Given the description of an element on the screen output the (x, y) to click on. 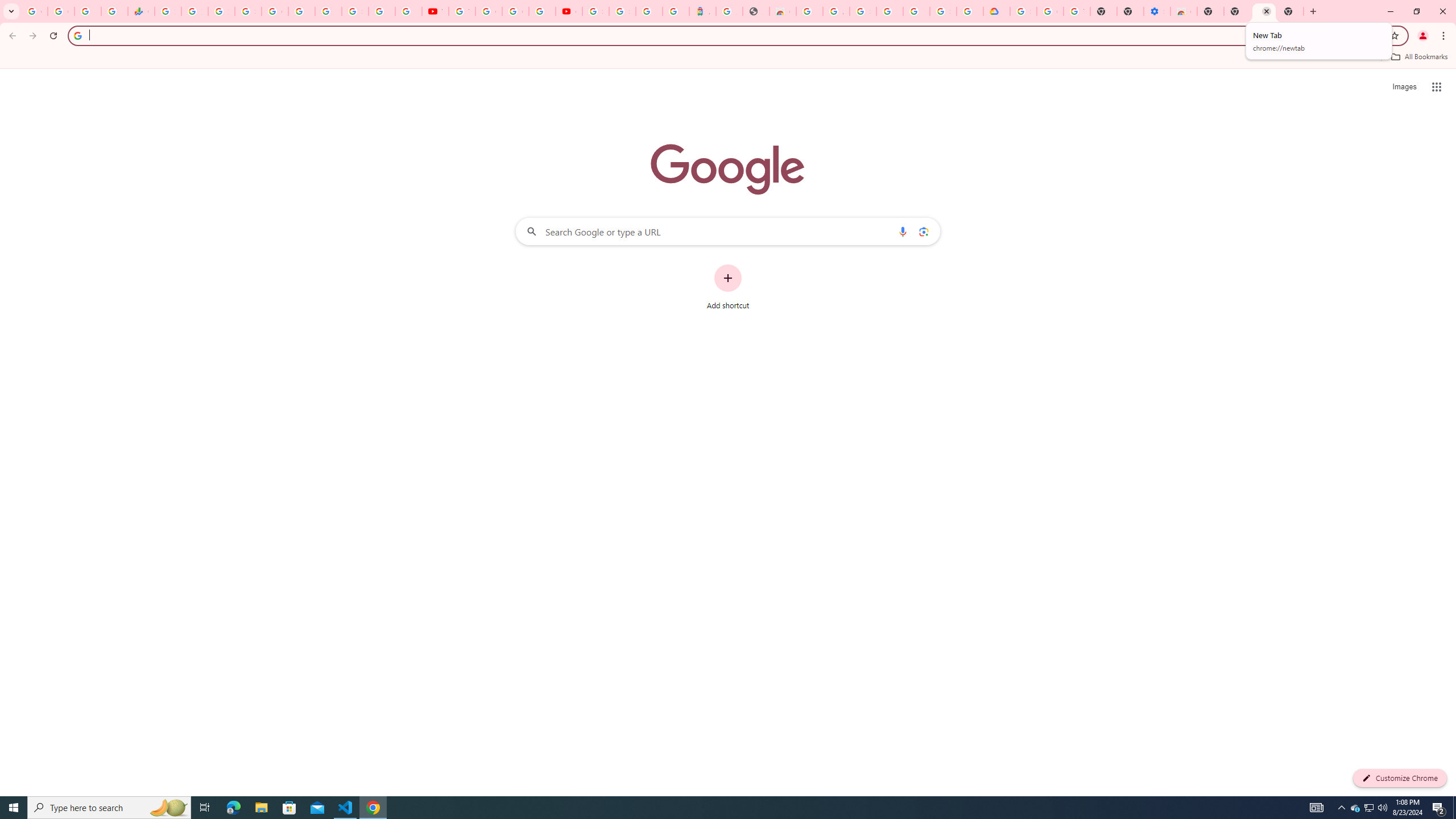
Turn cookies on or off - Computer - Google Account Help (1076, 11)
New Tab (1290, 11)
Search Google or type a URL (727, 230)
Add shortcut (727, 287)
Sign in - Google Accounts (862, 11)
